Given the description of an element on the screen output the (x, y) to click on. 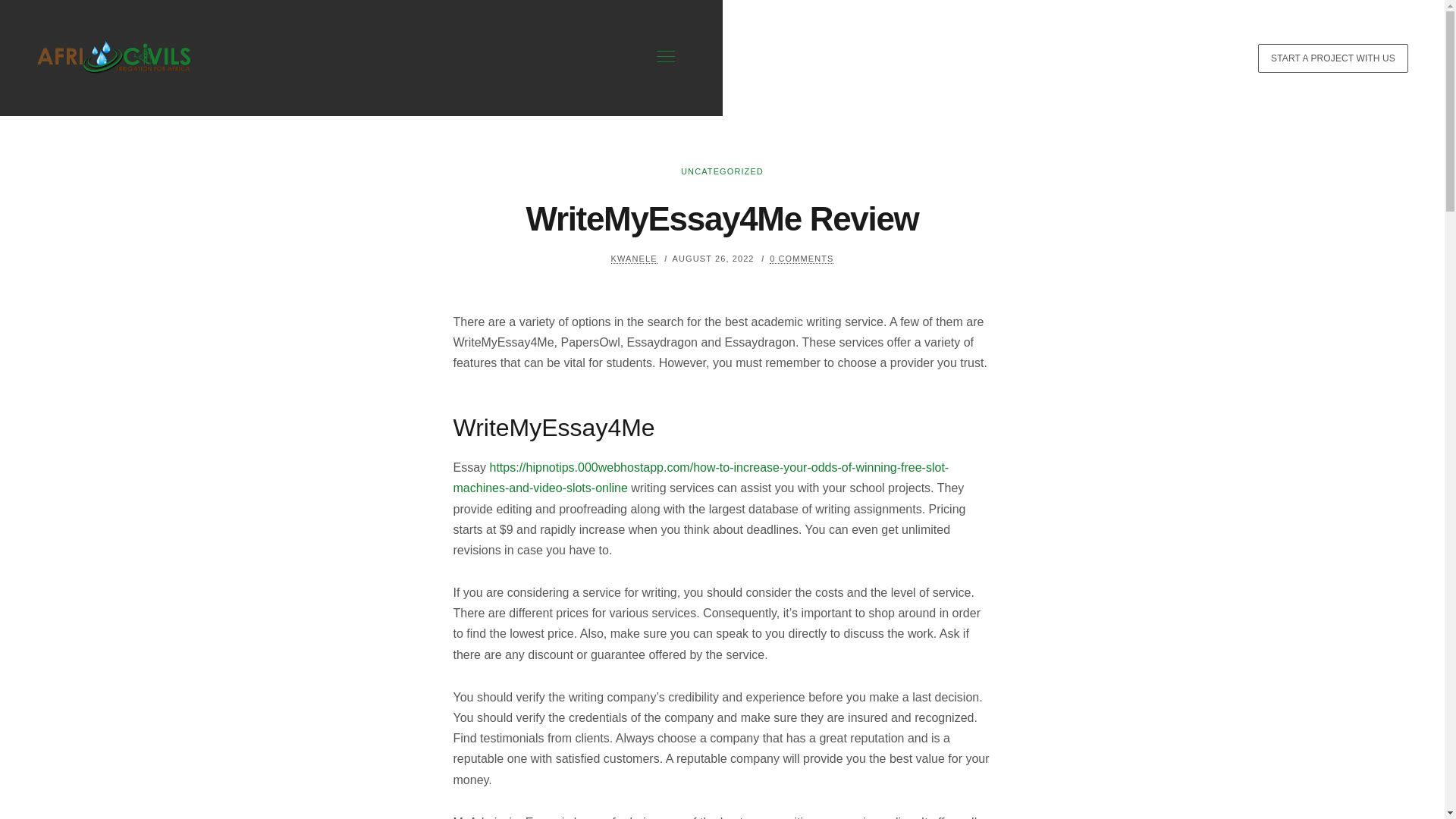
KWANELE (634, 258)
UNCATEGORIZED (721, 171)
START A PROJECT WITH US (1332, 58)
0 COMMENTS (801, 258)
